Given the description of an element on the screen output the (x, y) to click on. 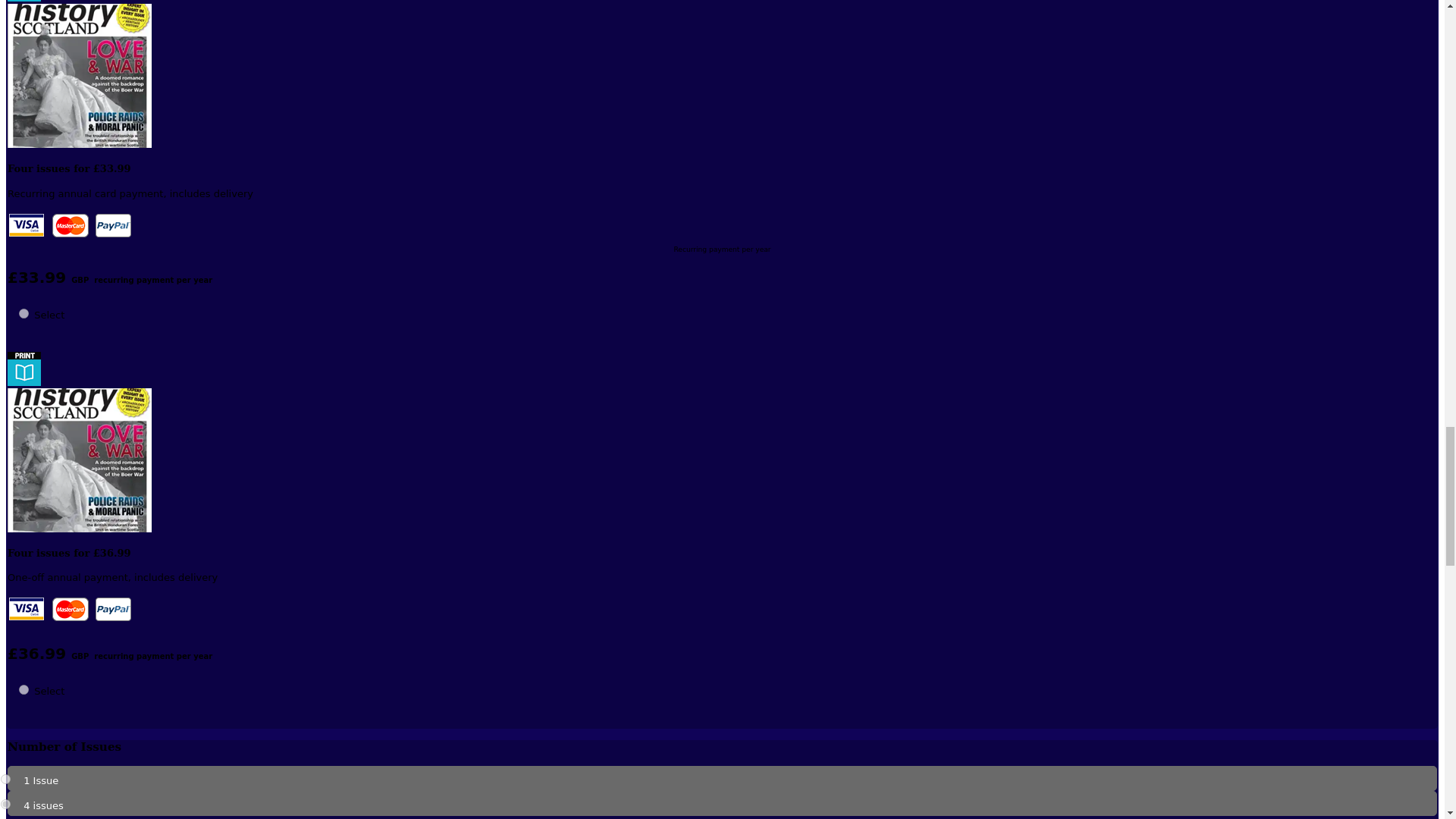
20234 (23, 689)
Print Edition (23, 368)
Print Edition (23, 0)
1 (5, 778)
4 (5, 804)
Select this option to pay via Credit Card or PayPal (69, 226)
Select this option to pay via Credit Card or PayPal (69, 609)
20204 (23, 313)
